Given the description of an element on the screen output the (x, y) to click on. 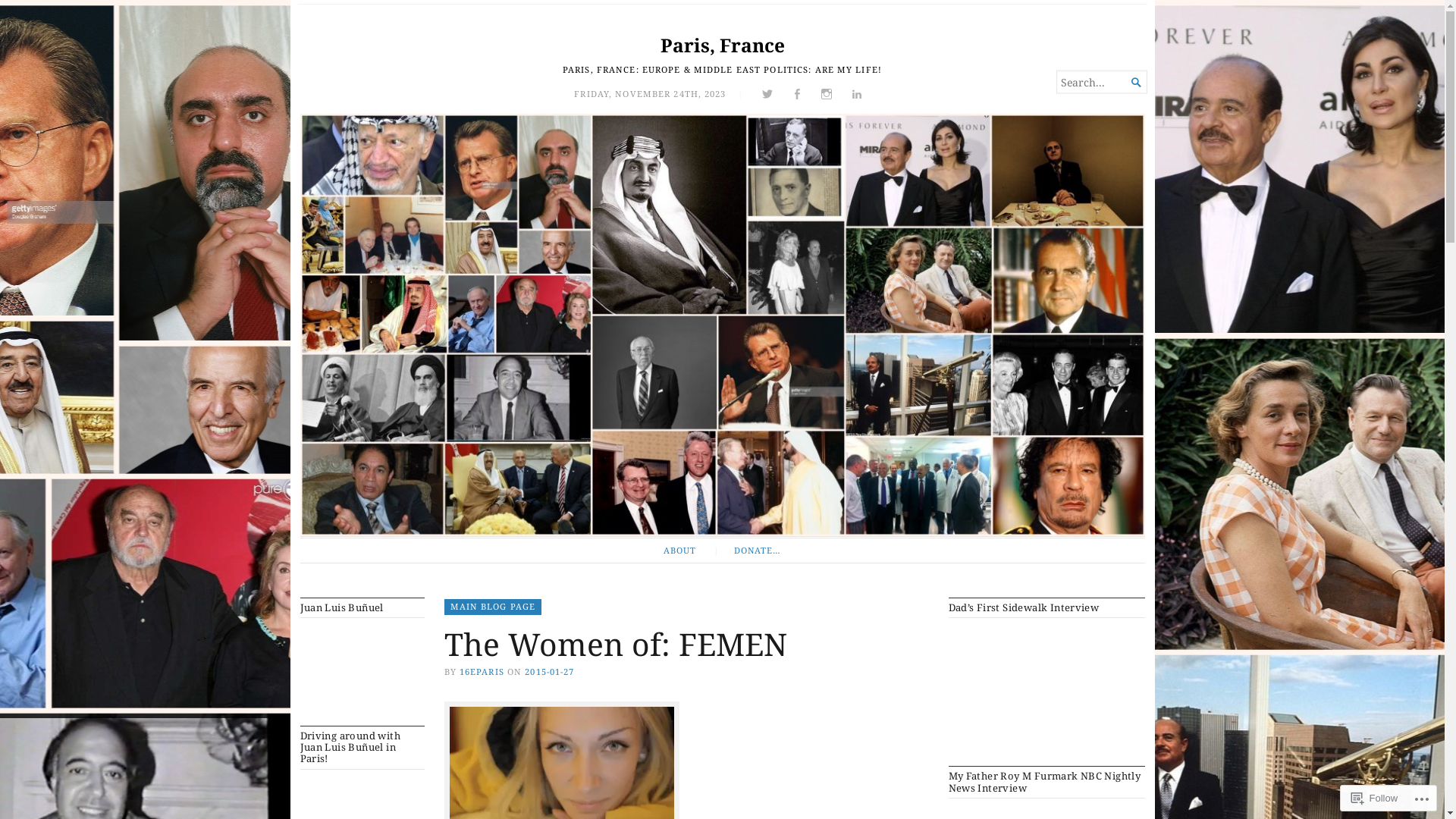
MAIN BLOG PAGE Element type: text (493, 607)
VideoPress Video Player Element type: hover (1045, 684)
Paris, France Element type: hover (722, 324)
ABOUT Element type: text (678, 550)
2015-01-27 Element type: text (549, 671)
VideoPress Video Player Element type: hover (362, 664)
Follow Element type: text (1374, 797)
Paris, France Element type: text (721, 44)
16EPARIS Element type: text (481, 671)
